Given the description of an element on the screen output the (x, y) to click on. 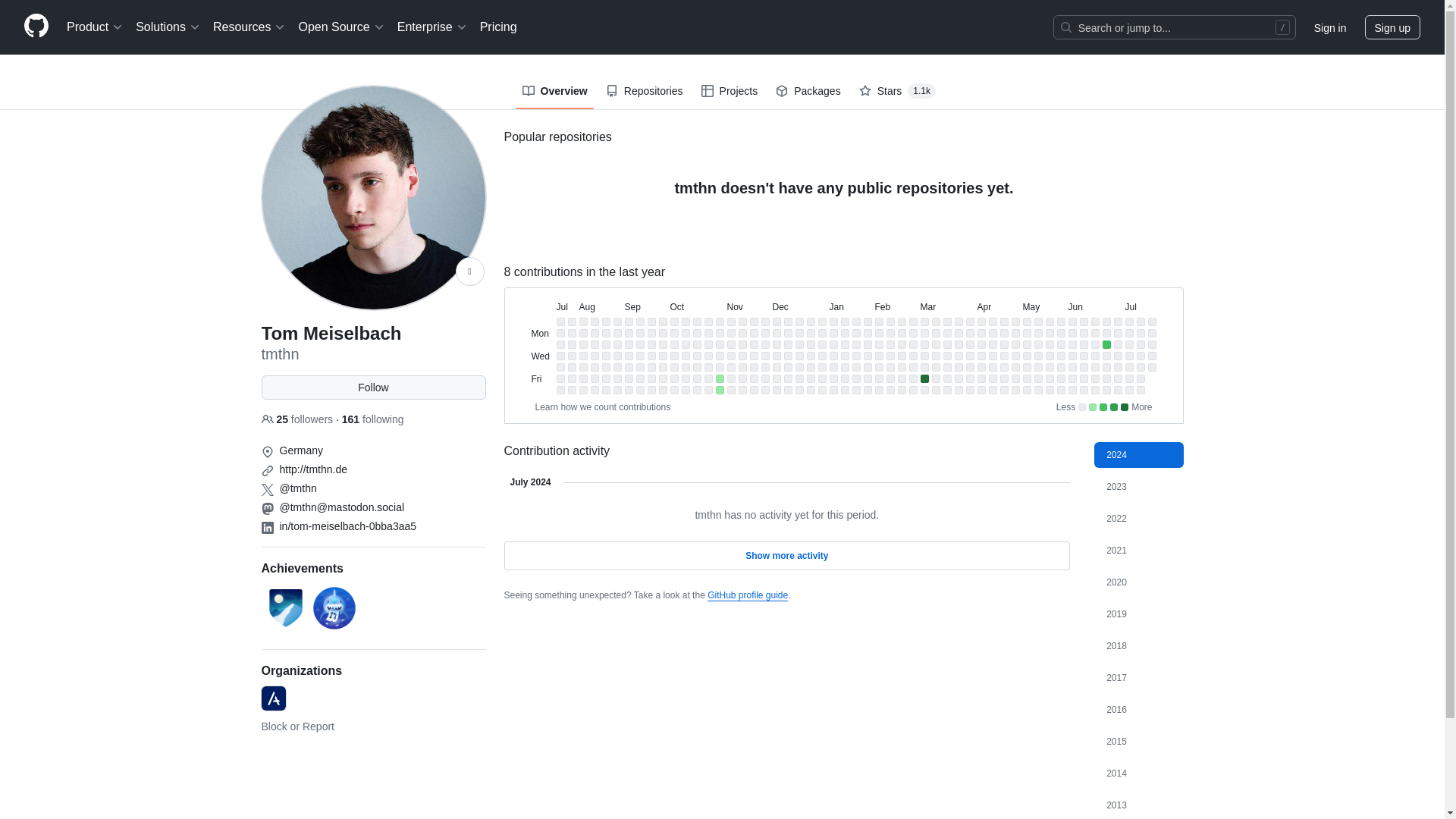
Open Source (341, 27)
Product (95, 27)
Resources (249, 27)
Mastodon (266, 508)
1,102 (921, 90)
Solutions (167, 27)
LinkedIn (266, 527)
X (266, 490)
